Given the description of an element on the screen output the (x, y) to click on. 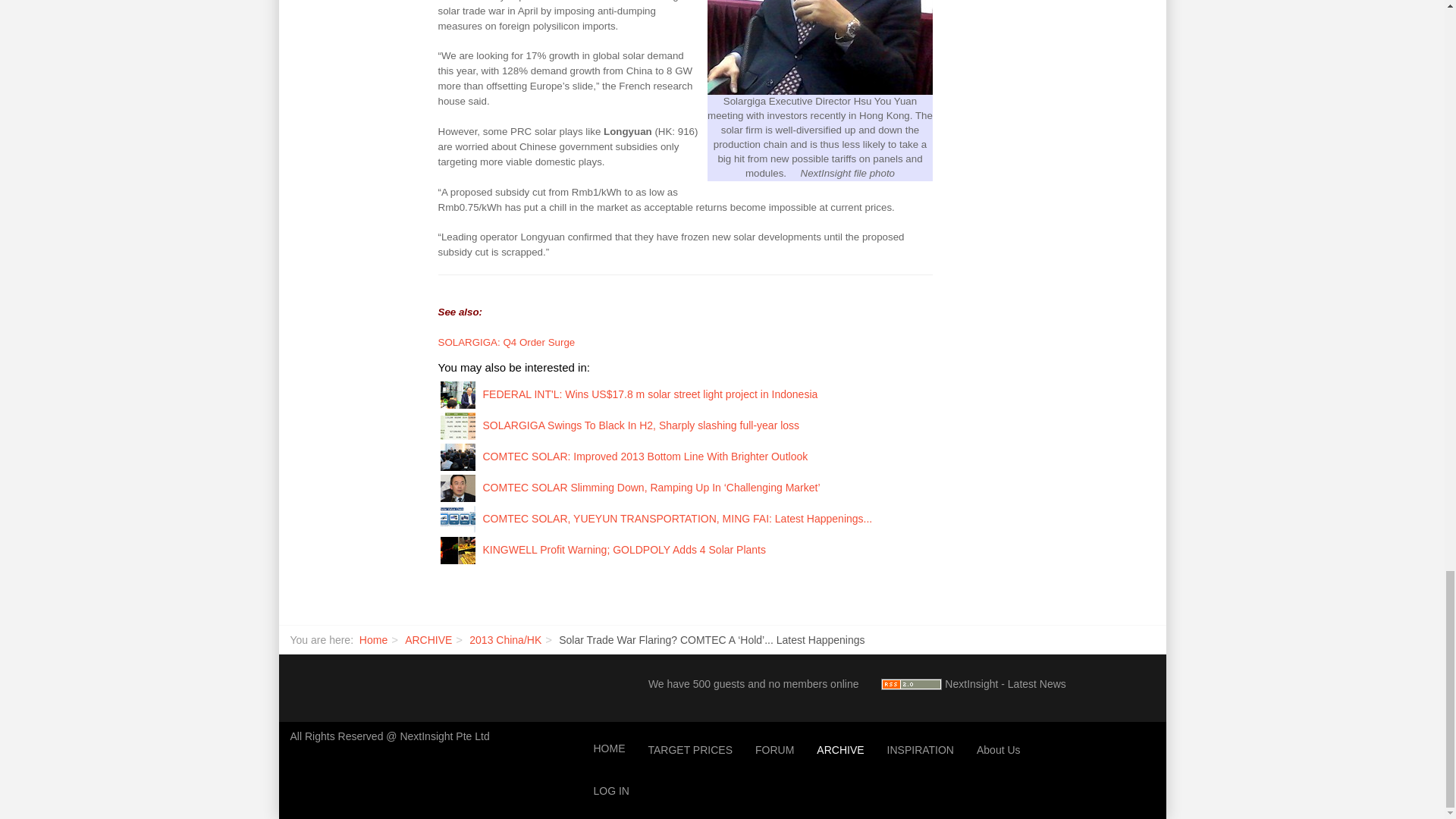
ARCHIVE (427, 639)
KINGWELL Profit Warning; GOLDPOLY Adds 4 Solar Plants (623, 549)
TARGET PRICES (689, 750)
Home (373, 639)
FORUM (774, 750)
INSPIRATION (920, 750)
HOME (608, 749)
KINGWELL Profit Warning; GOLDPOLY Adds 4 Solar Plants (457, 549)
About Us (998, 750)
ARCHIVE (839, 750)
